Given the description of an element on the screen output the (x, y) to click on. 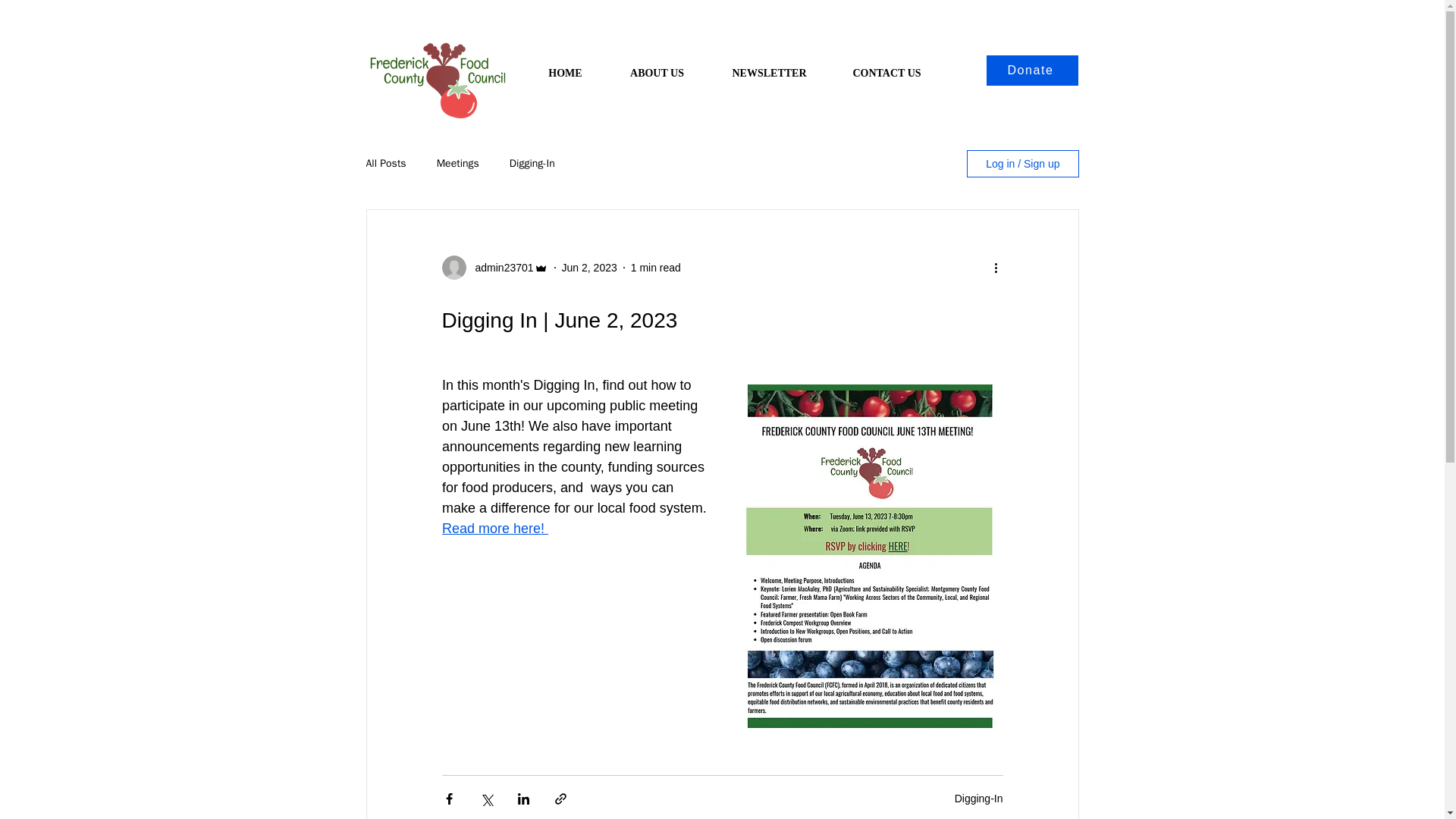
NEWSLETTER (768, 66)
Jun 2, 2023 (589, 266)
Digging-In (531, 163)
Donate (1031, 70)
All Posts (385, 163)
Read more here!  (494, 528)
admin23701 (498, 267)
HOME (564, 66)
CONTACT US (886, 66)
ABOUT US (656, 66)
Meetings (457, 163)
1 min read (655, 266)
Digging-In (979, 798)
Community Fare logo.png (437, 74)
